Given the description of an element on the screen output the (x, y) to click on. 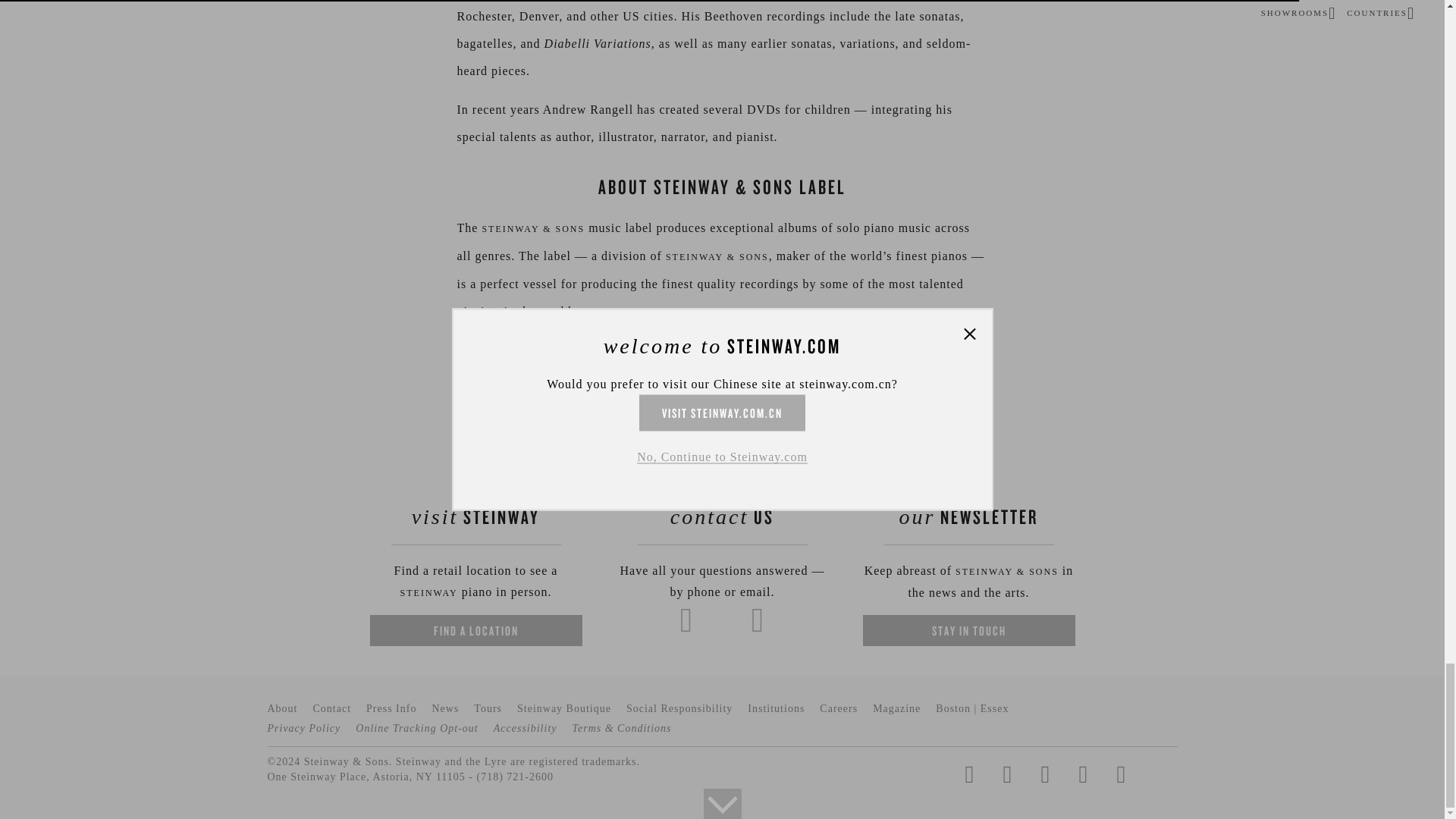
STAY IN TOUCH (969, 630)
Tours (488, 708)
FIND A LOCATION (475, 630)
Steinway Boutique (563, 708)
Press Info (391, 708)
About (281, 708)
Contact (331, 708)
News (444, 708)
